Given the description of an element on the screen output the (x, y) to click on. 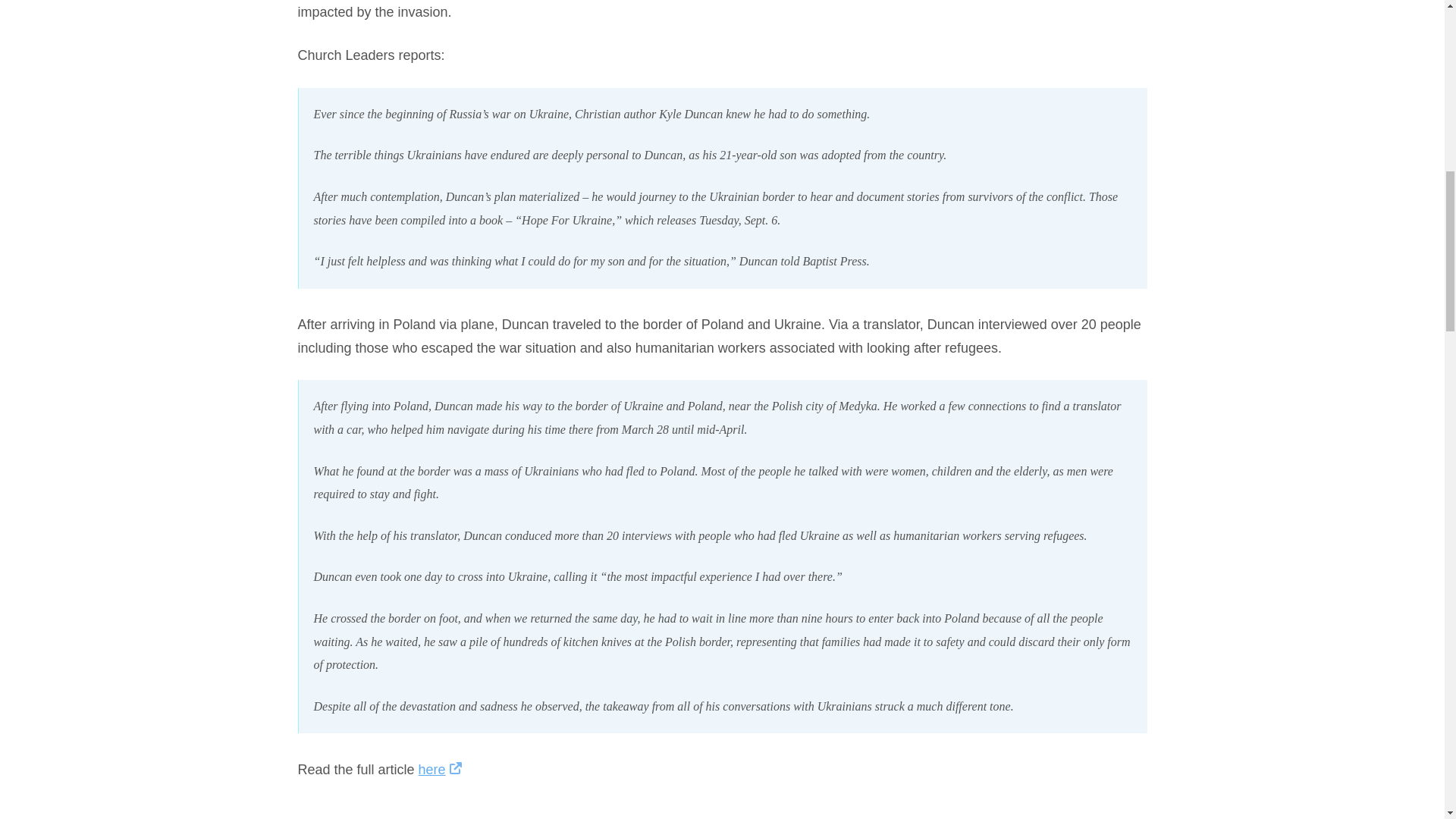
Link goes to external site. (455, 769)
